Given the description of an element on the screen output the (x, y) to click on. 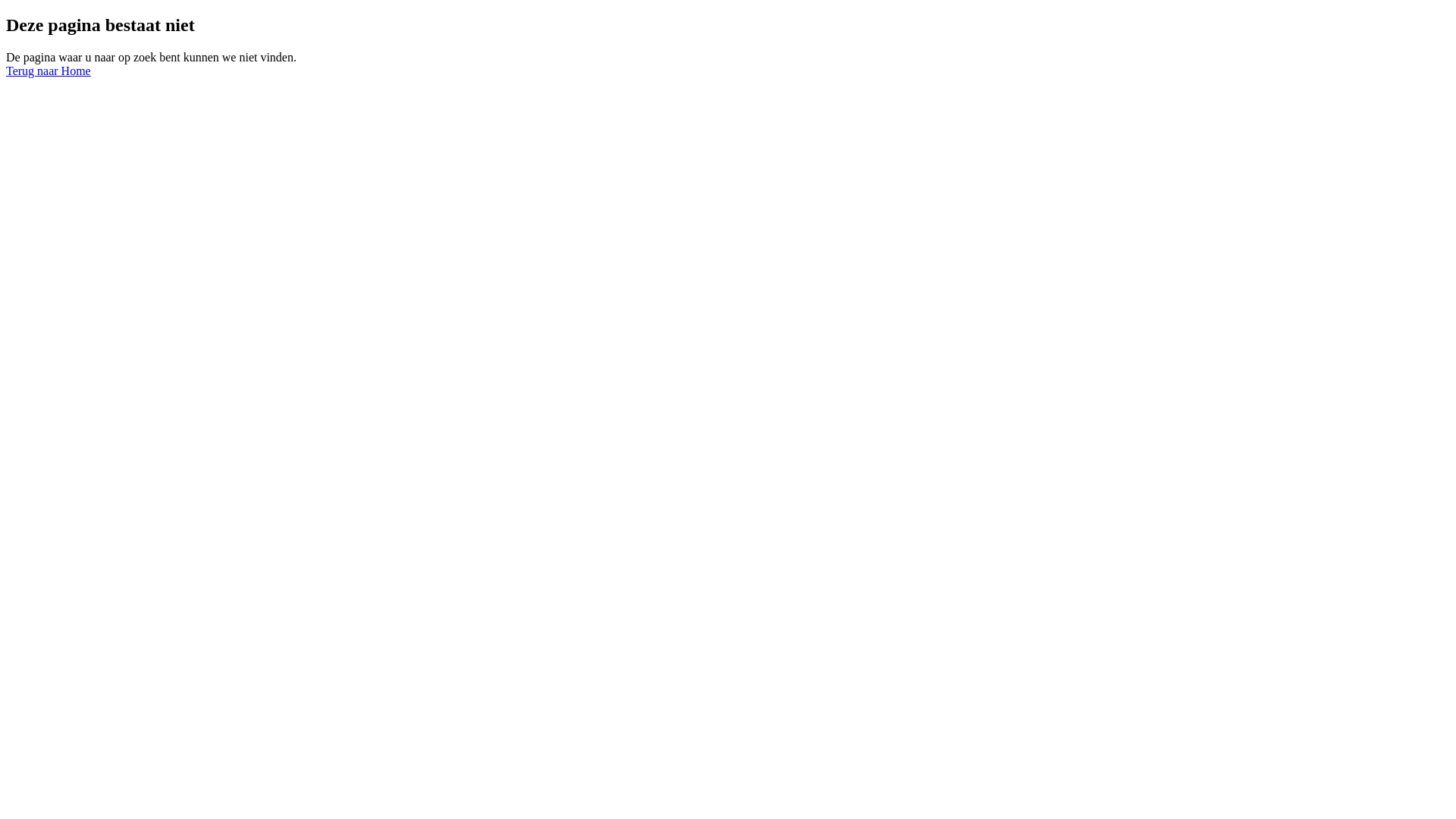
Terug naar Home Element type: text (48, 70)
